Given the description of an element on the screen output the (x, y) to click on. 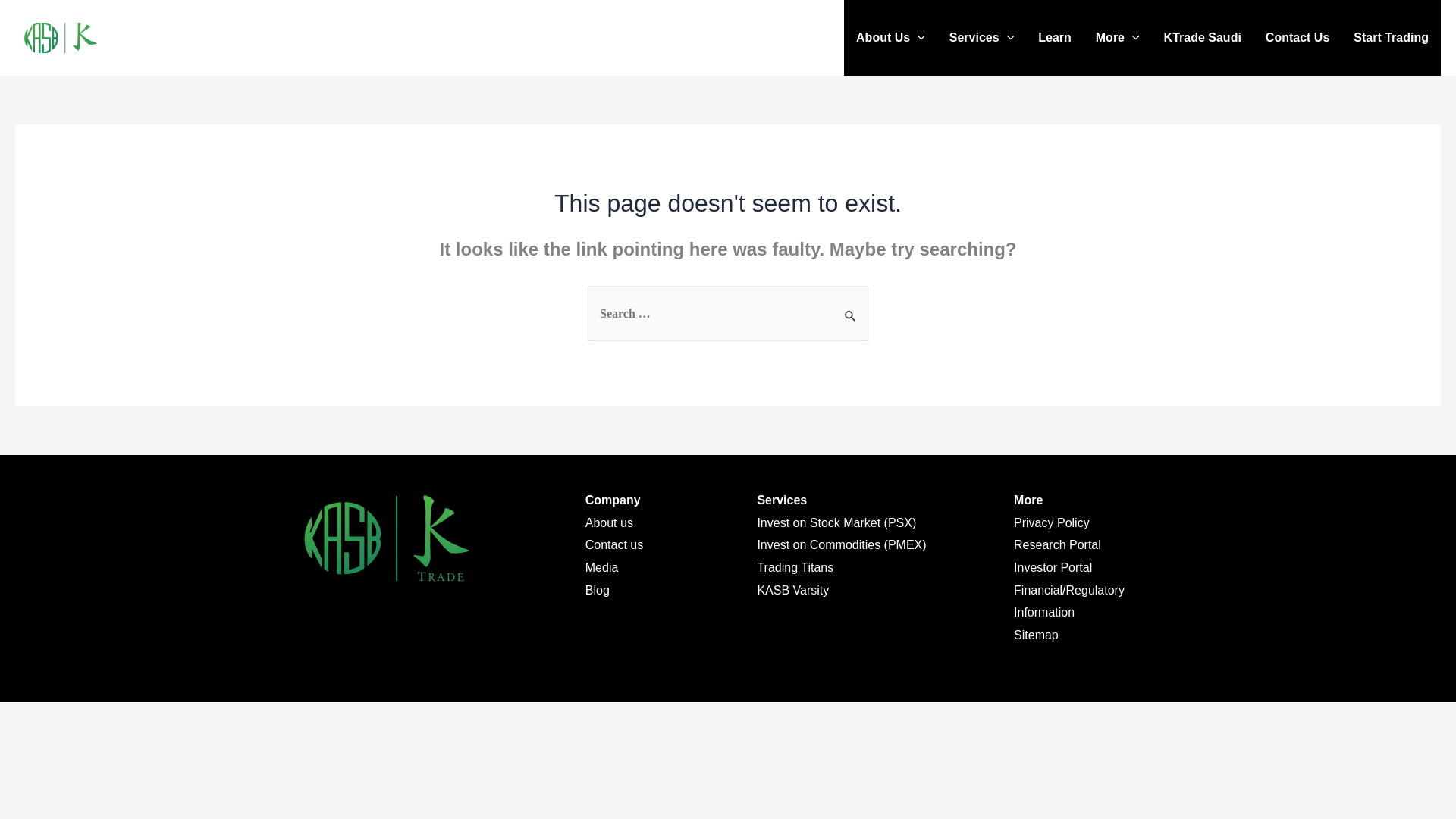
Services (981, 38)
Start Trading (1390, 38)
About Us (890, 38)
More (1117, 38)
KTrade Saudi (1202, 38)
Contact Us (1296, 38)
